Given the description of an element on the screen output the (x, y) to click on. 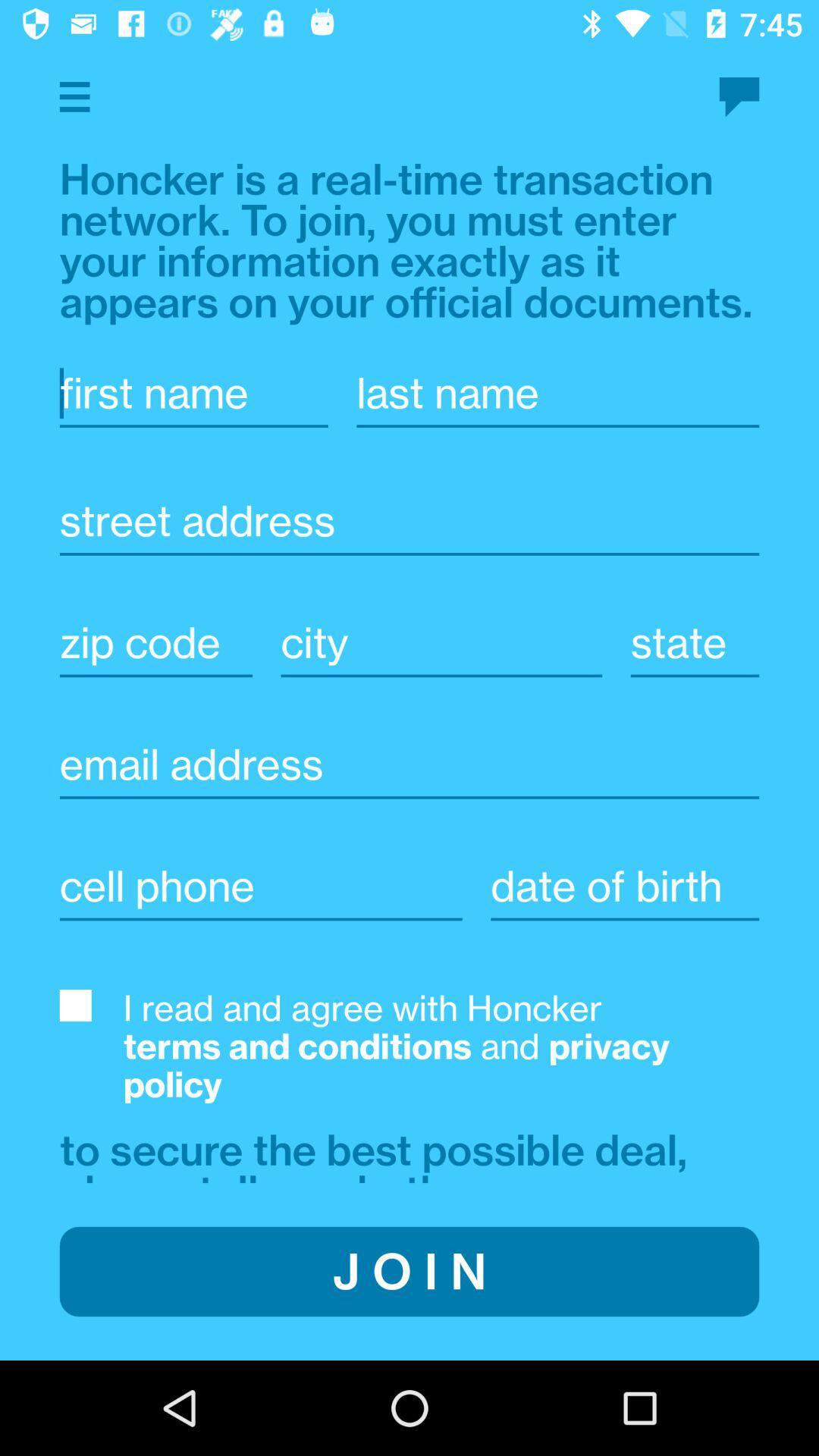
confirm that you 've read and agree to the policies and terms and conditions (75, 1005)
